Given the description of an element on the screen output the (x, y) to click on. 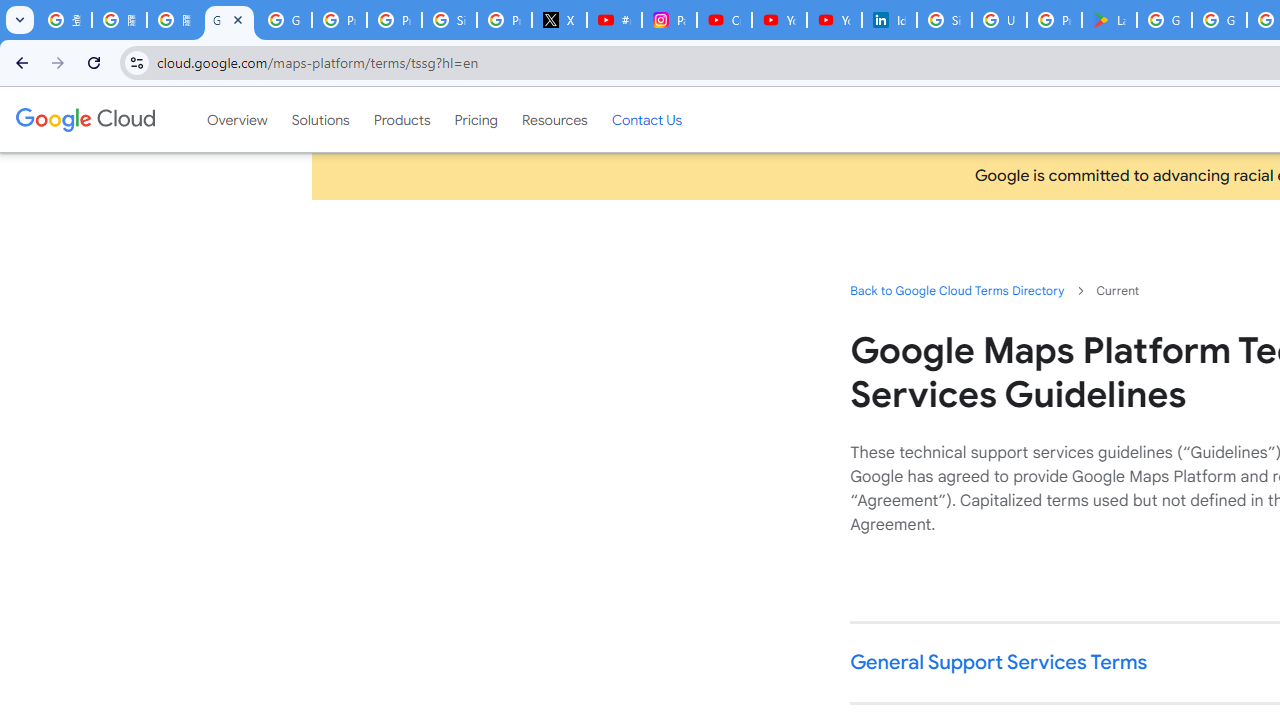
Resources (553, 119)
Sign in - Google Accounts (449, 20)
Sign in - Google Accounts (943, 20)
YouTube Culture & Trends - YouTube Top 10, 2021 (833, 20)
Last Shelter: Survival - Apps on Google Play (1108, 20)
Solutions (320, 119)
Google Cloud (84, 119)
Privacy Help Center - Policies Help (394, 20)
Products (401, 119)
